Given the description of an element on the screen output the (x, y) to click on. 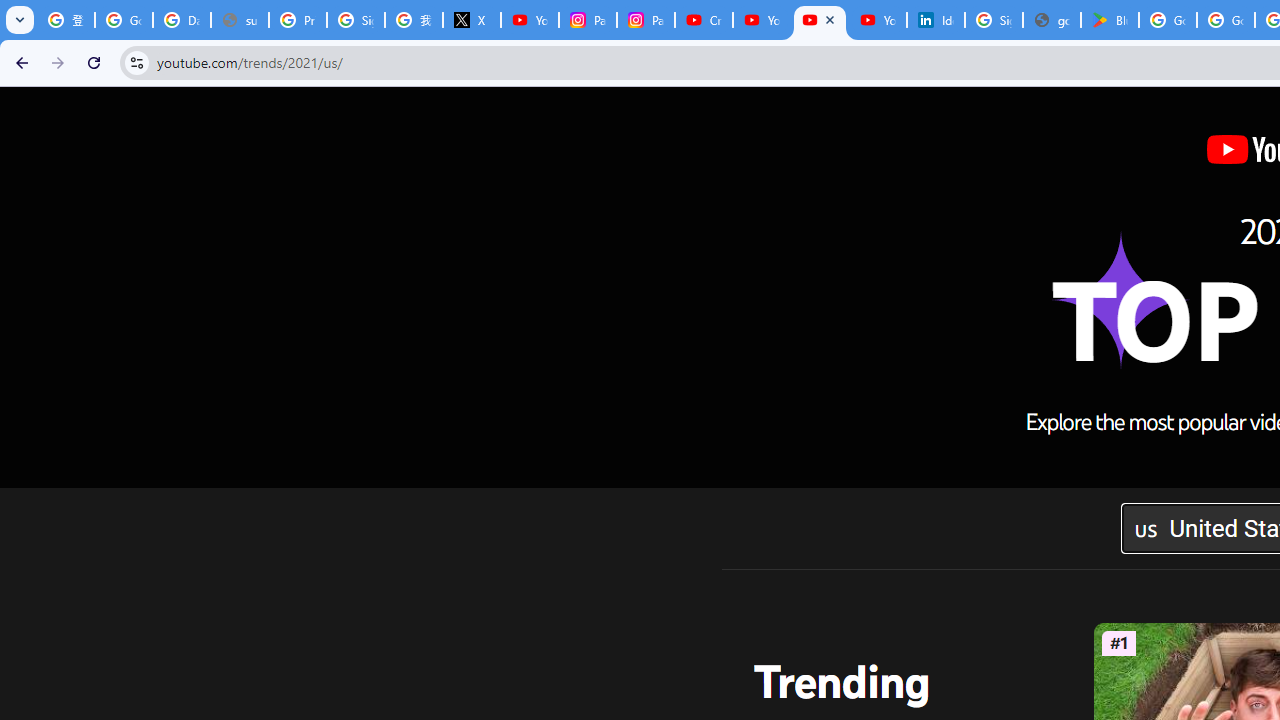
Bluey: Let's Play! - Apps on Google Play (1110, 20)
YouTube Content Monetization Policies - How YouTube Works (529, 20)
Google Workspace - Specific Terms (1225, 20)
Sign in - Google Accounts (355, 20)
